Given the description of an element on the screen output the (x, y) to click on. 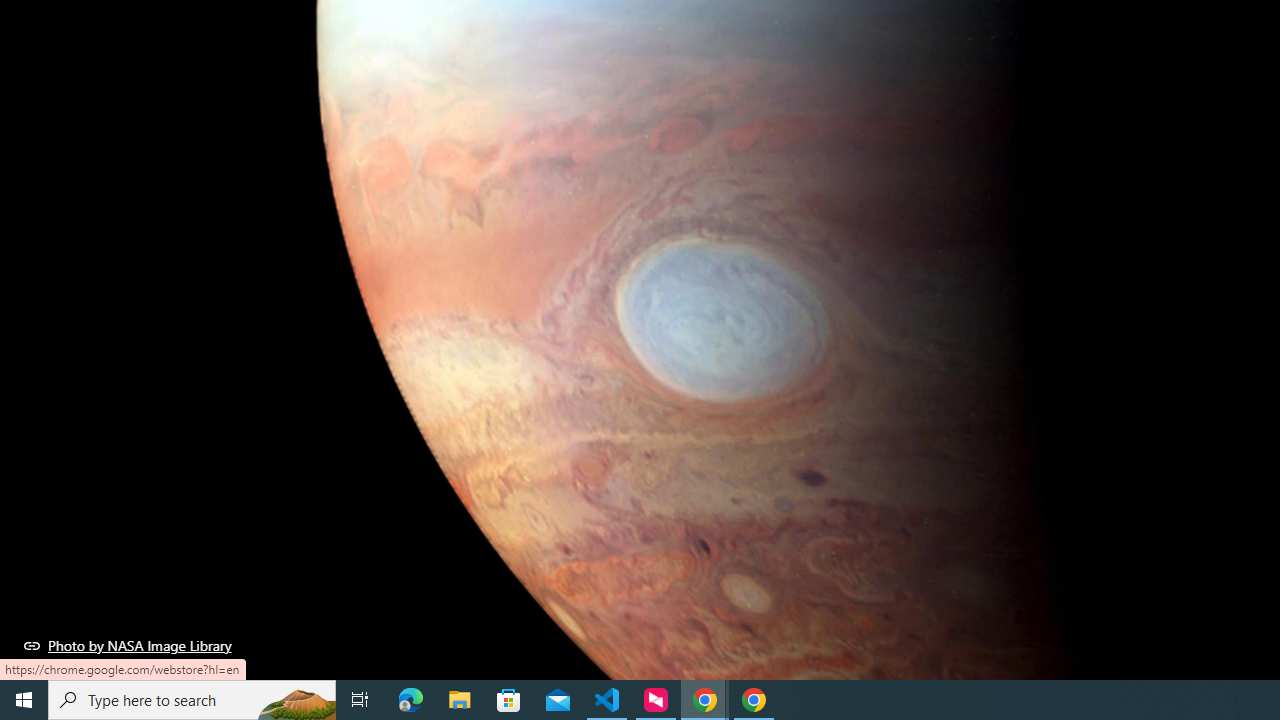
Photo by NASA Image Library (127, 645)
